Given the description of an element on the screen output the (x, y) to click on. 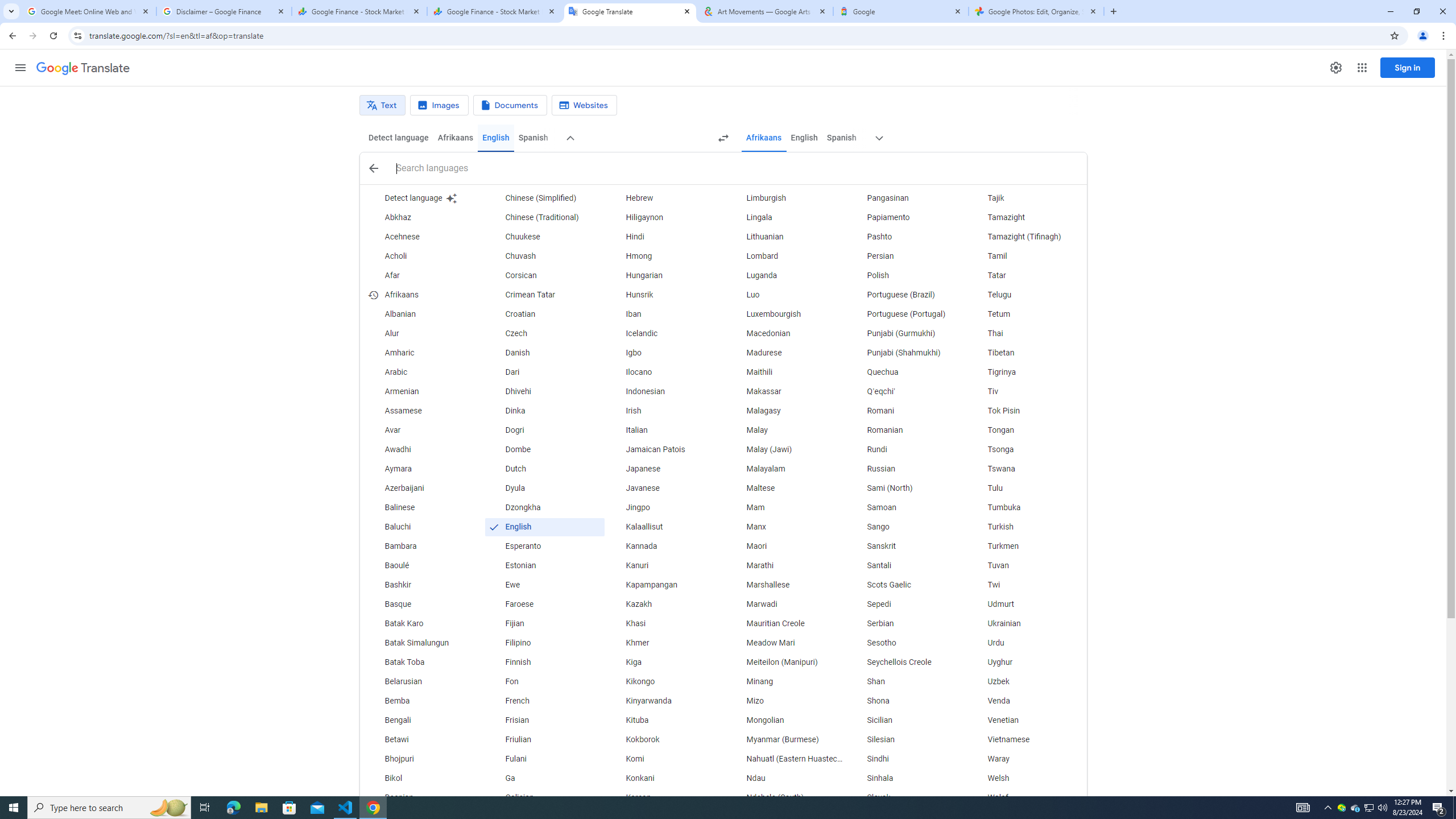
Maori (785, 546)
Udmurt (1026, 604)
Bhojpuri (423, 759)
Lithuanian (785, 236)
Makassar (785, 391)
Albanian (423, 314)
Bambara (423, 546)
Maithili (785, 372)
Mongolian (785, 720)
Text translation (382, 105)
Detect language (398, 137)
Luo (785, 294)
Persian (905, 256)
Hmong (665, 256)
